Given the description of an element on the screen output the (x, y) to click on. 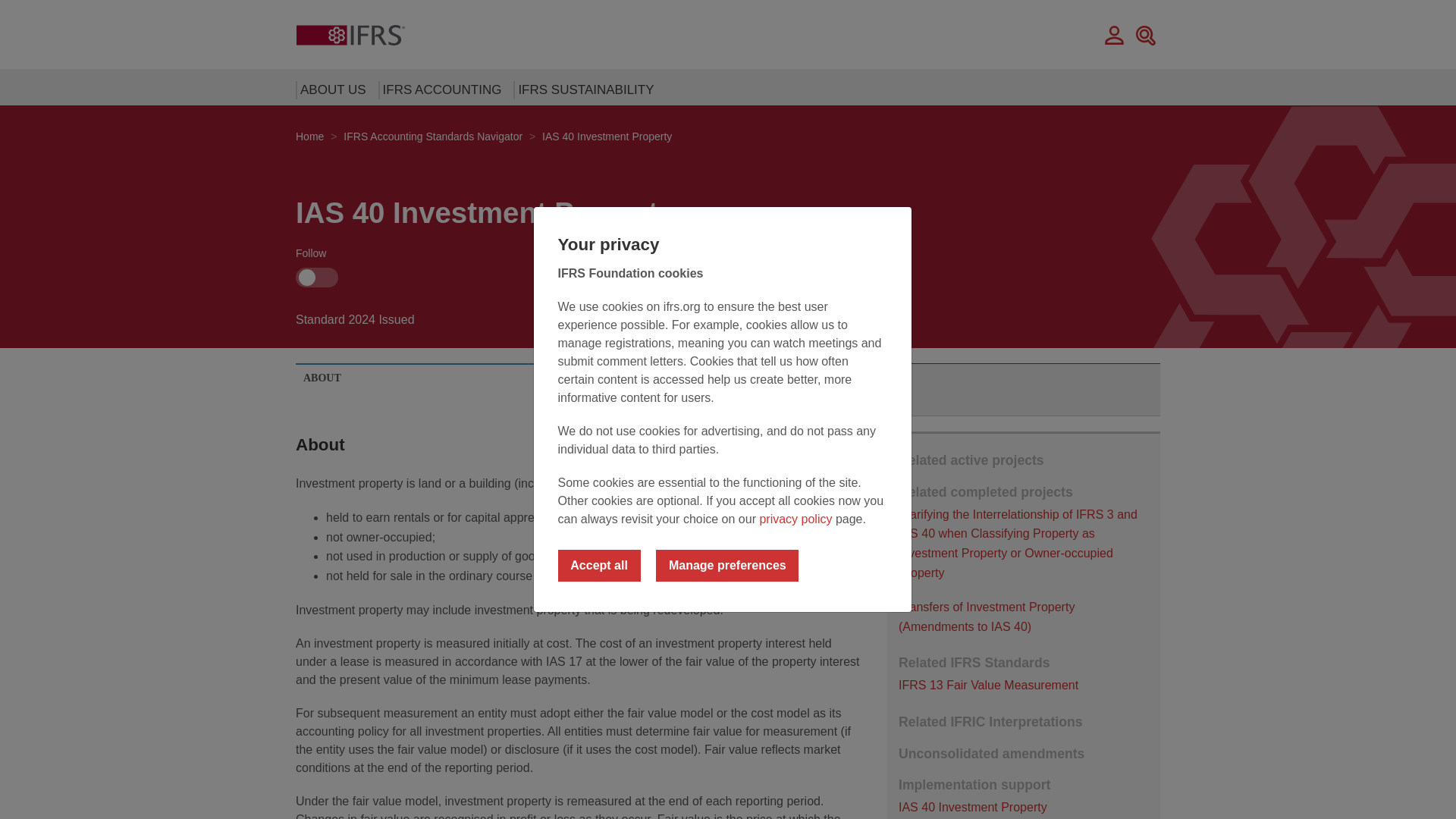
IFRS SUSTAINABILITY (581, 89)
ABOUT US (329, 89)
IFRS ACCOUNTING (438, 89)
IFRS Home Page (350, 34)
Dashboard (1114, 34)
